Given the description of an element on the screen output the (x, y) to click on. 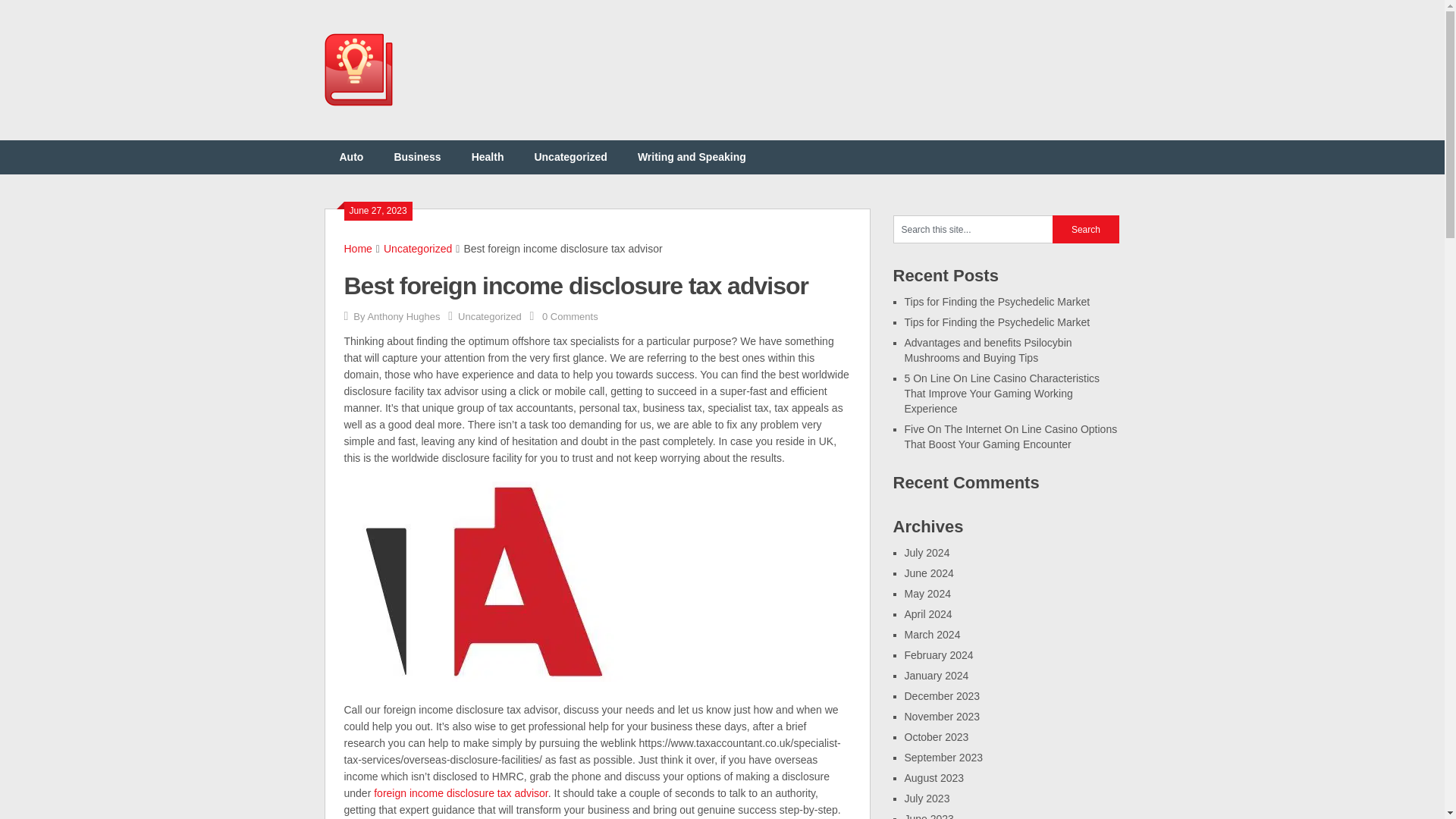
Business (416, 157)
Search (1085, 229)
September 2023 (943, 757)
Uncategorized (569, 157)
Posts by Anthony Hughes (402, 316)
October 2023 (936, 736)
November 2023 (941, 716)
August 2023 (933, 777)
Tips for Finding the Psychedelic Market (996, 322)
Uncategorized (417, 248)
Health (488, 157)
March 2024 (931, 634)
December 2023 (941, 695)
January 2024 (936, 675)
Health Category (488, 157)
